Given the description of an element on the screen output the (x, y) to click on. 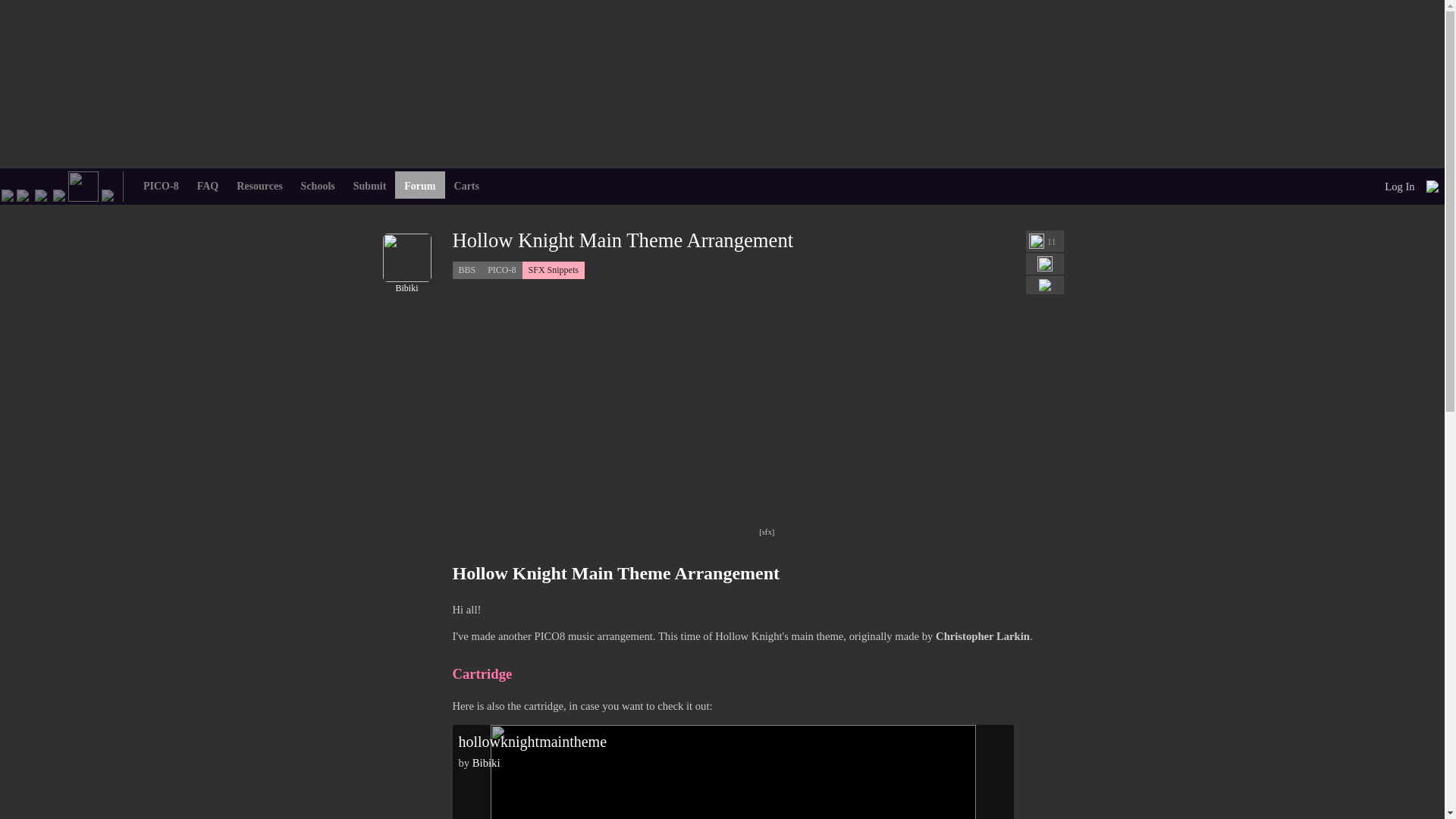
Picotron (58, 193)
Hollow Knight Main Theme Arrangement (622, 240)
Voxatron (40, 193)
Superblog (107, 193)
PICO-8 (22, 193)
Bibiki (405, 282)
Add to your favourites collection (1044, 263)
BBS (83, 184)
Lexaloffle Games (7, 193)
Give this post a star (1036, 240)
